Given the description of an element on the screen output the (x, y) to click on. 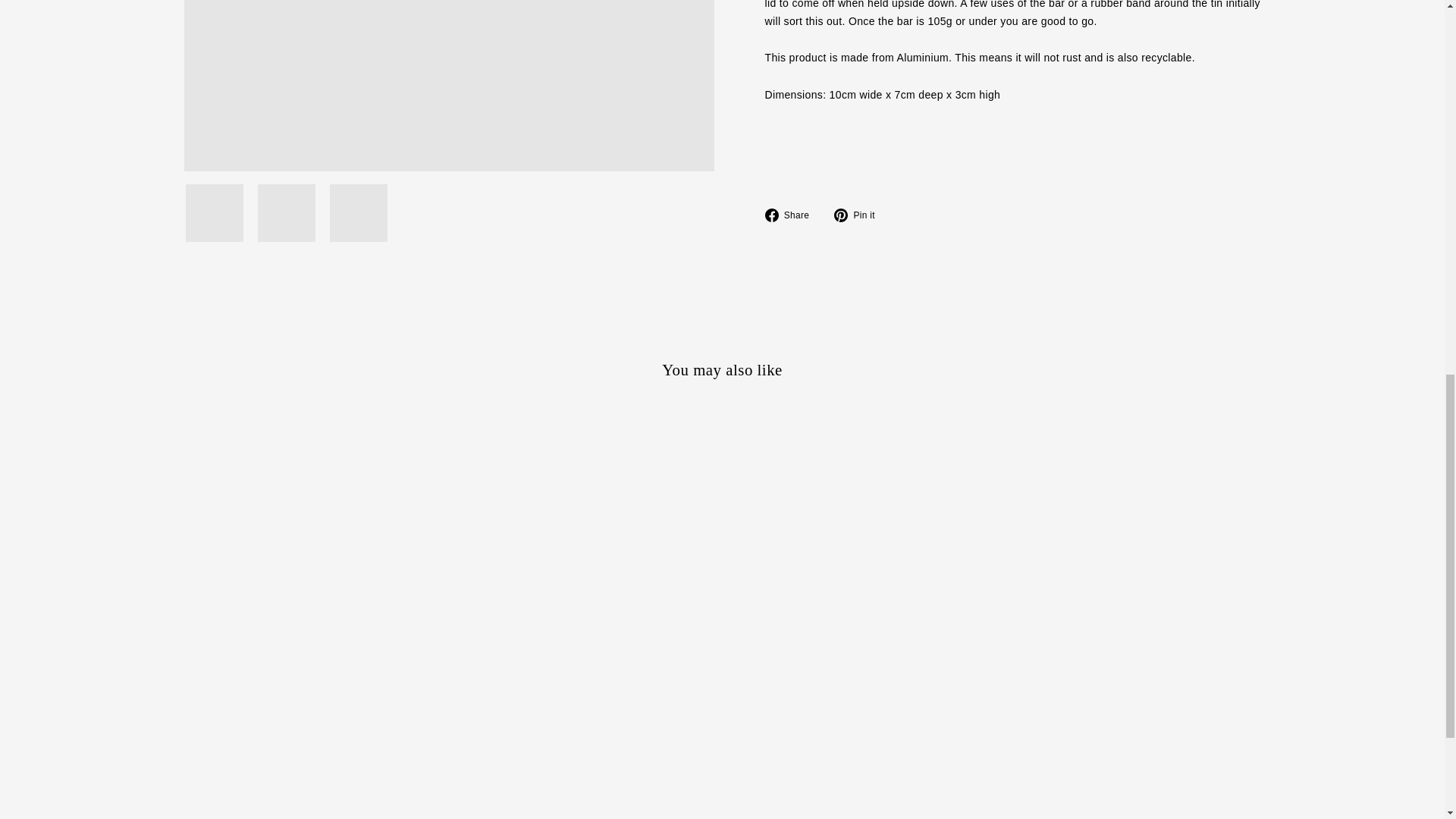
Pin on Pinterest (860, 215)
Share on Facebook (792, 215)
